Given the description of an element on the screen output the (x, y) to click on. 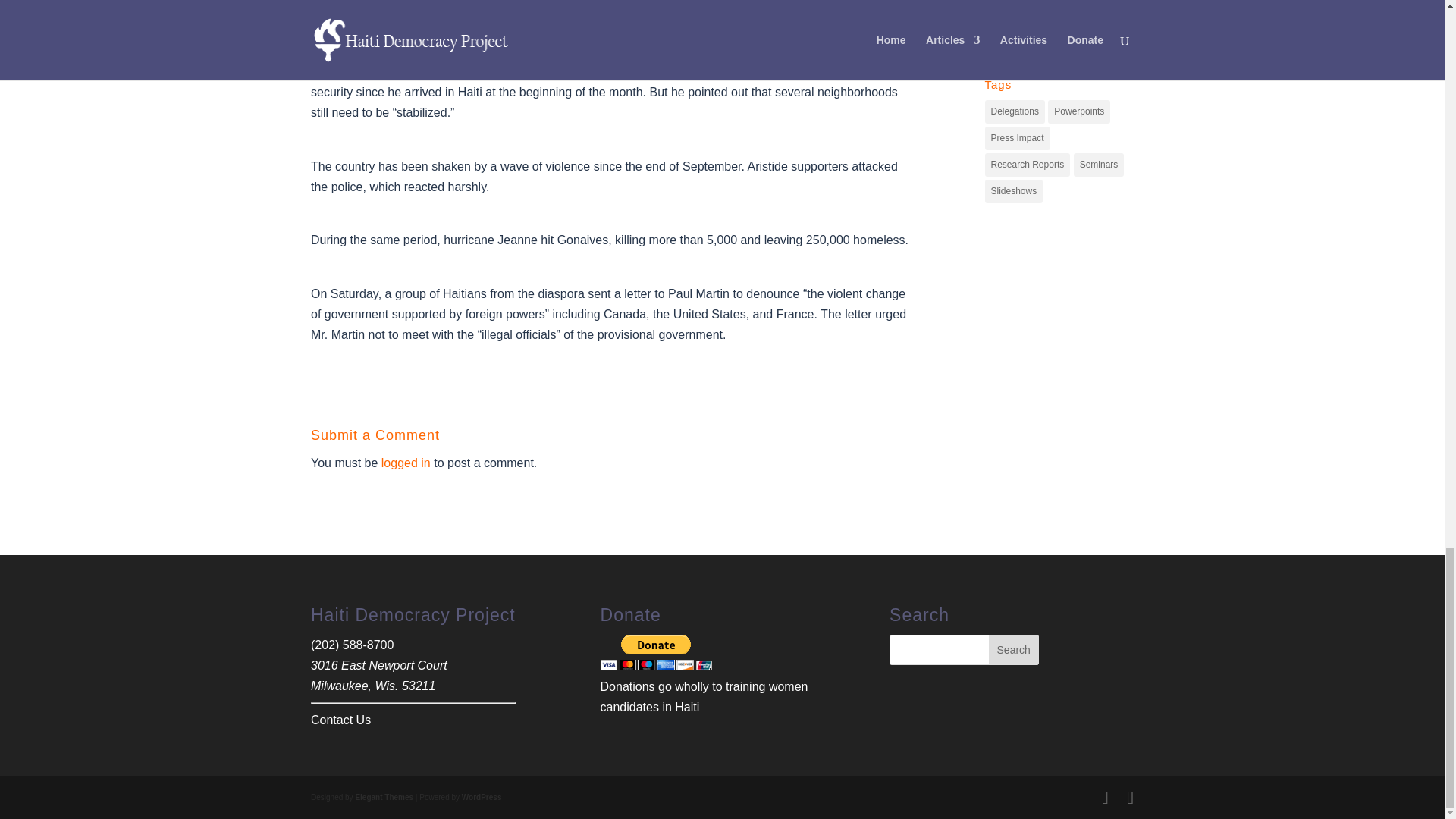
Search (1013, 649)
logged in (405, 462)
